Given the description of an element on the screen output the (x, y) to click on. 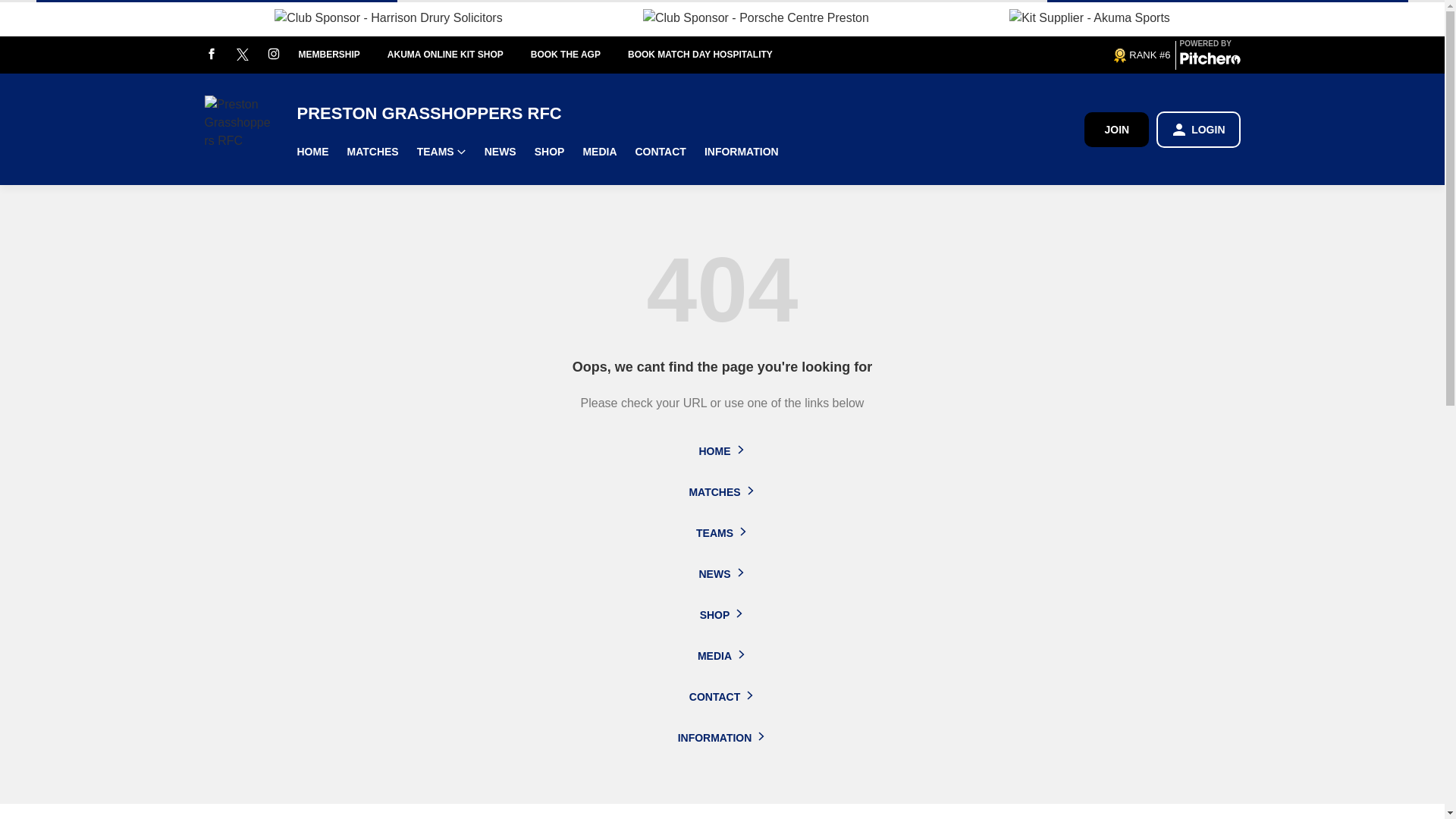
MATCHES (372, 152)
NEWS (500, 152)
Kit Supplier - Akuma Sports (1089, 18)
BOOK THE AGP (579, 54)
Pitchero (1209, 61)
MEDIA (599, 152)
BOOK MATCH DAY HOSPITALITY (713, 54)
Club Sponsor - Porsche Centre Preston (756, 18)
SHOP (549, 152)
PRESTON GRASSHOPPERS RFC (690, 113)
